Given the description of an element on the screen output the (x, y) to click on. 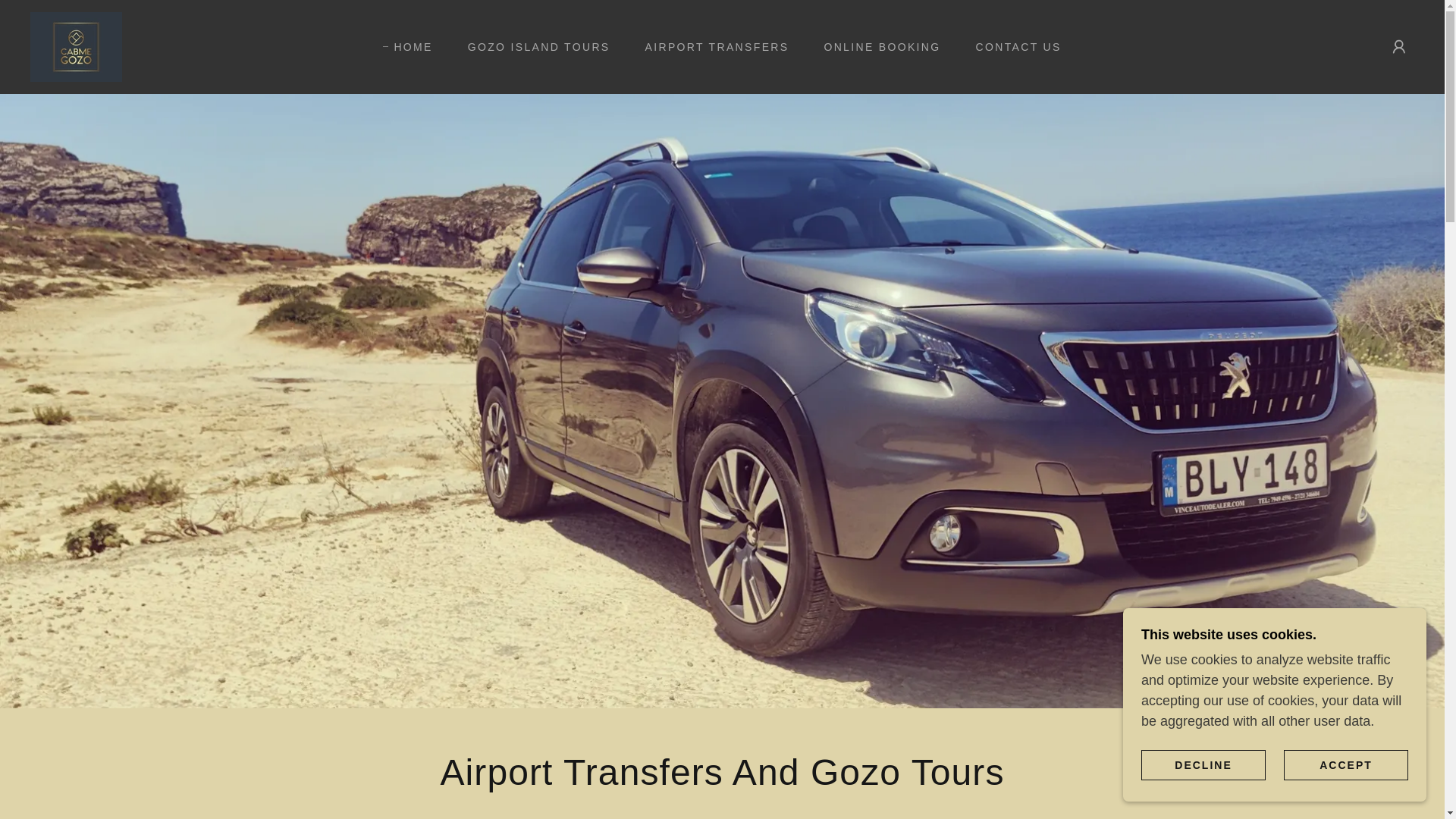
DECLINE (1203, 764)
HOME (407, 46)
CabMeGozo (76, 46)
GOZO ISLAND TOURS (533, 46)
CONTACT US (1012, 46)
AIRPORT TRANSFERS (711, 46)
ACCEPT (1345, 764)
ONLINE BOOKING (876, 46)
